Given the description of an element on the screen output the (x, y) to click on. 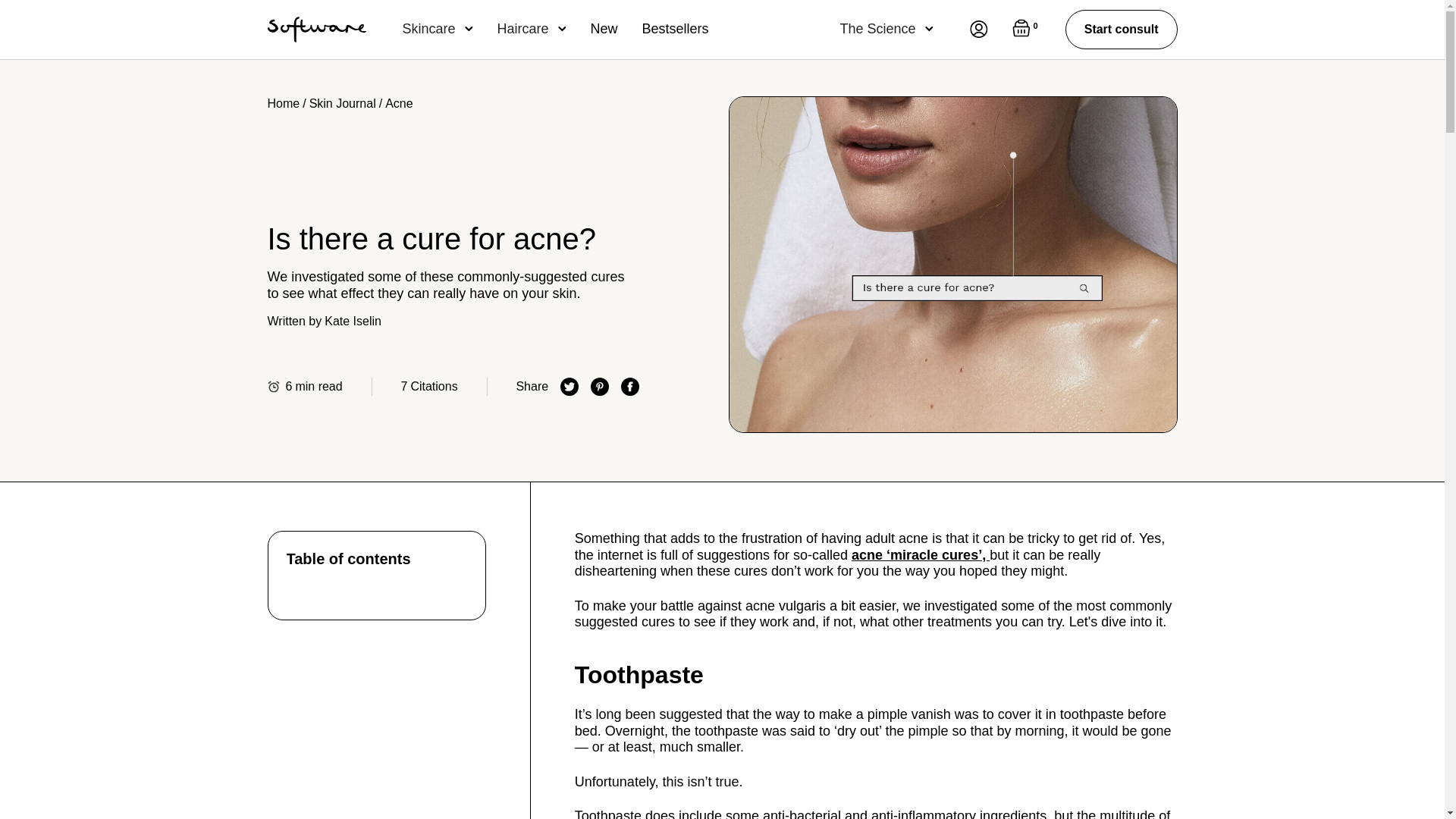
Home (282, 103)
0 (1026, 29)
Start consult (1121, 28)
Bestsellers (675, 29)
Skin Journal (341, 103)
Acne (398, 103)
